Given the description of an element on the screen output the (x, y) to click on. 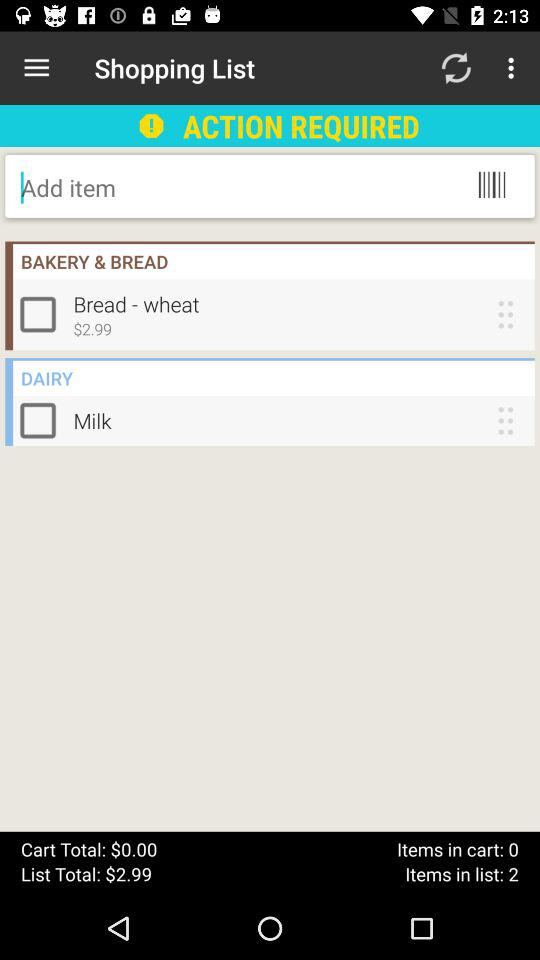
choose the icon to the left of shopping list (36, 68)
